Given the description of an element on the screen output the (x, y) to click on. 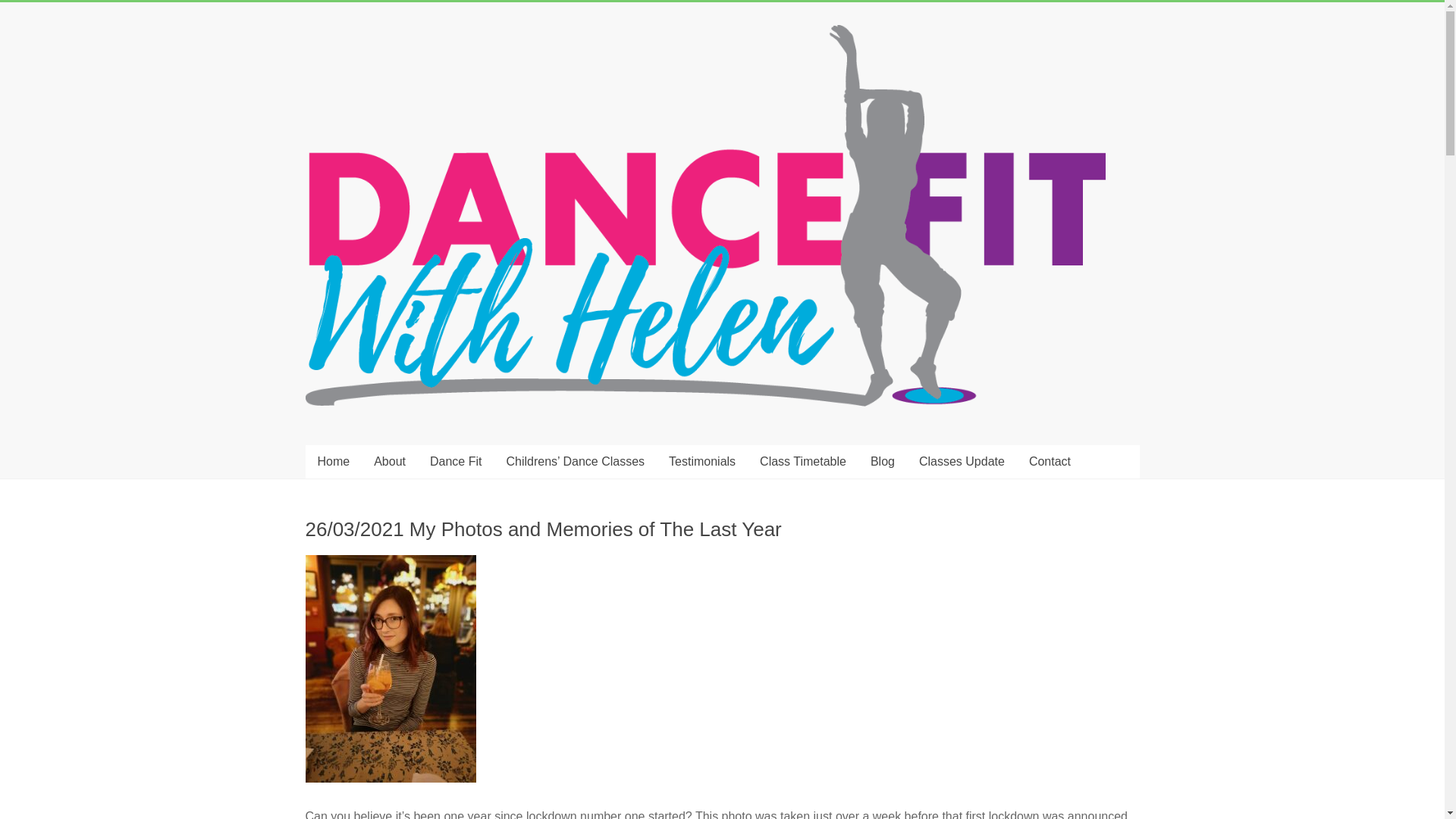
Testimonials (702, 461)
Contact (1049, 461)
Home (332, 461)
Dance Fit (455, 461)
About (389, 461)
Blog (883, 461)
Classes Update (961, 461)
Class Timetable (803, 461)
